Given the description of an element on the screen output the (x, y) to click on. 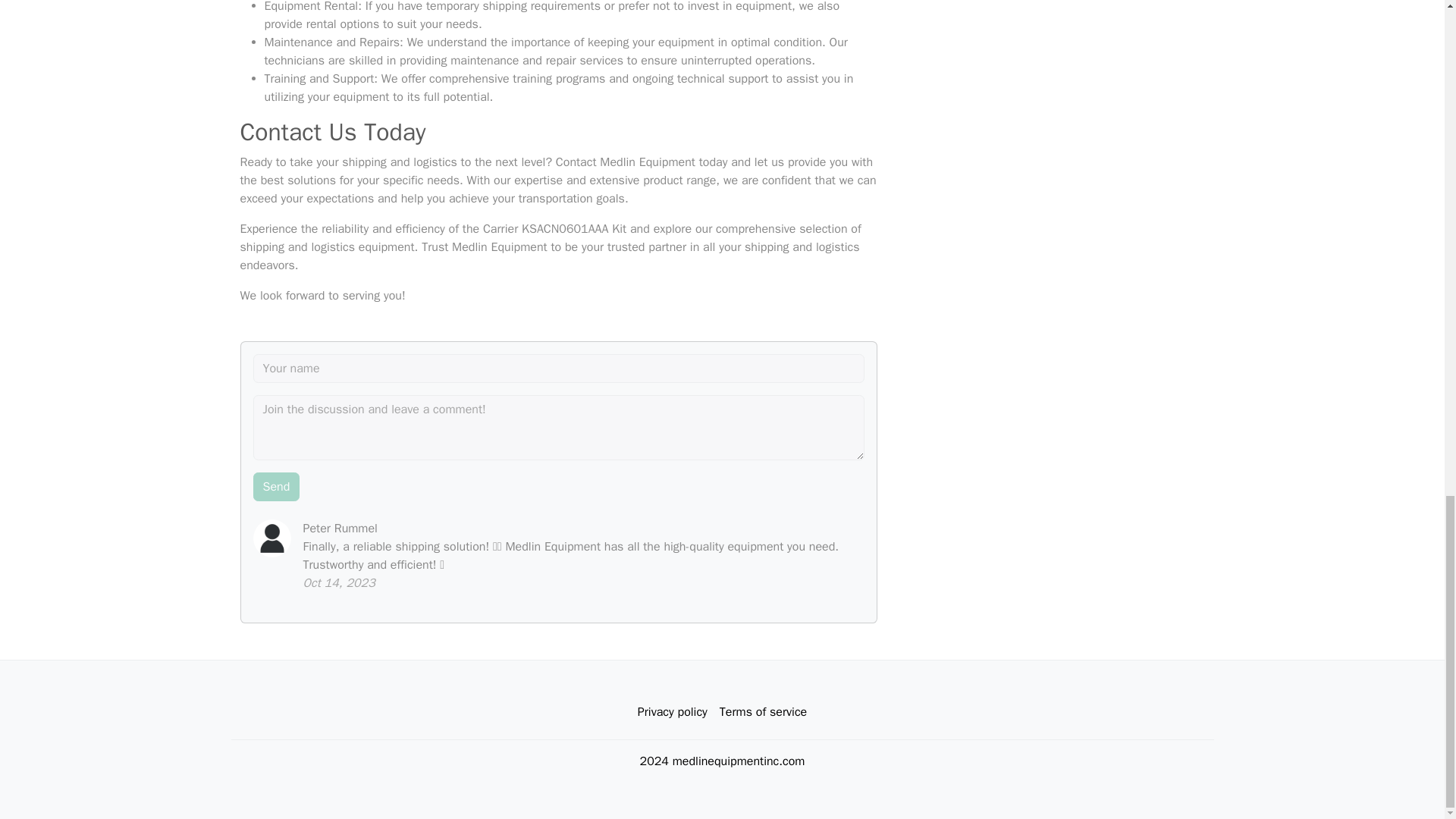
Send (276, 486)
Terms of service (762, 711)
Send (276, 486)
Privacy policy (672, 711)
